Given the description of an element on the screen output the (x, y) to click on. 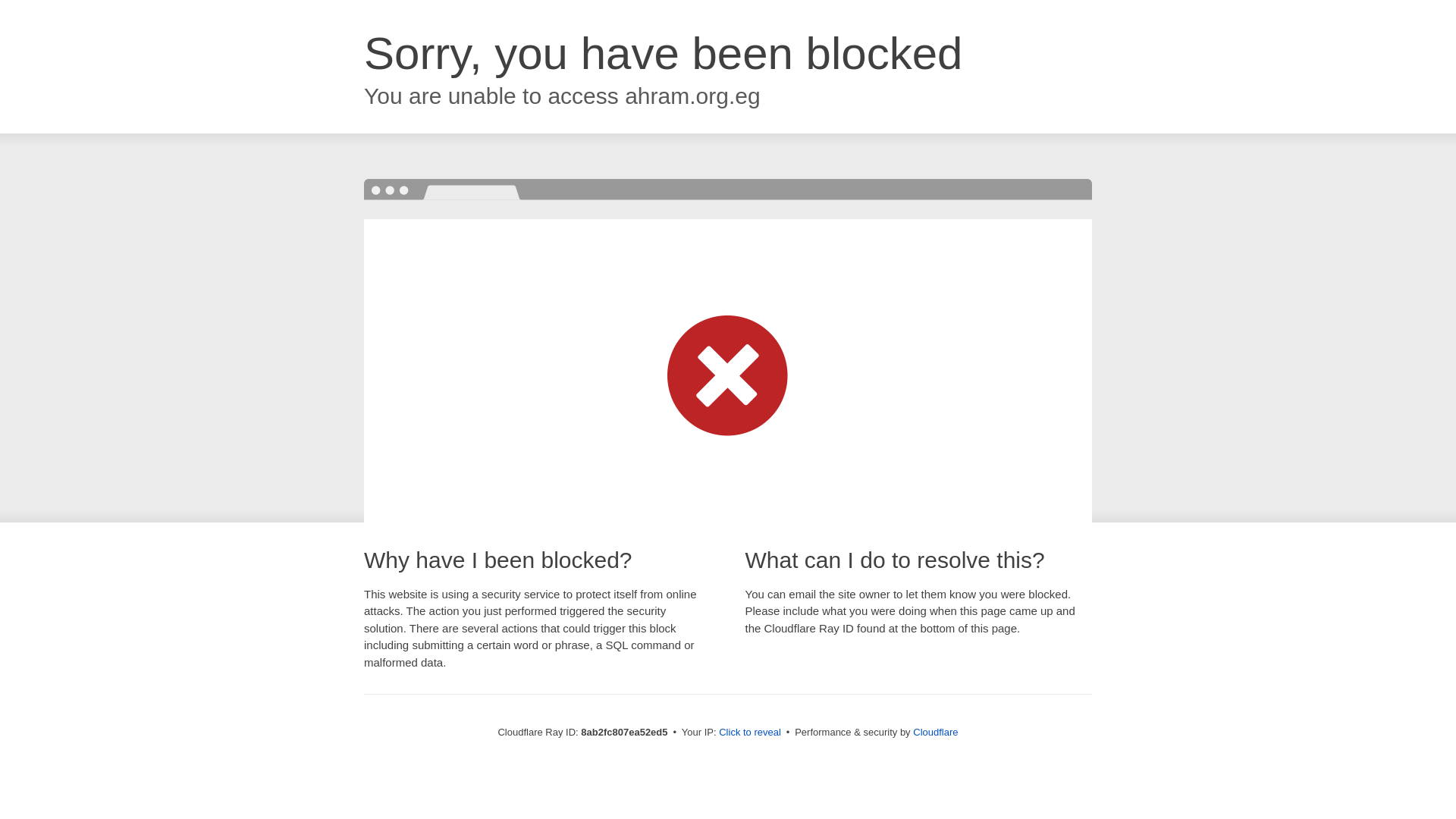
Click to reveal (749, 732)
Cloudflare (935, 731)
